Given the description of an element on the screen output the (x, y) to click on. 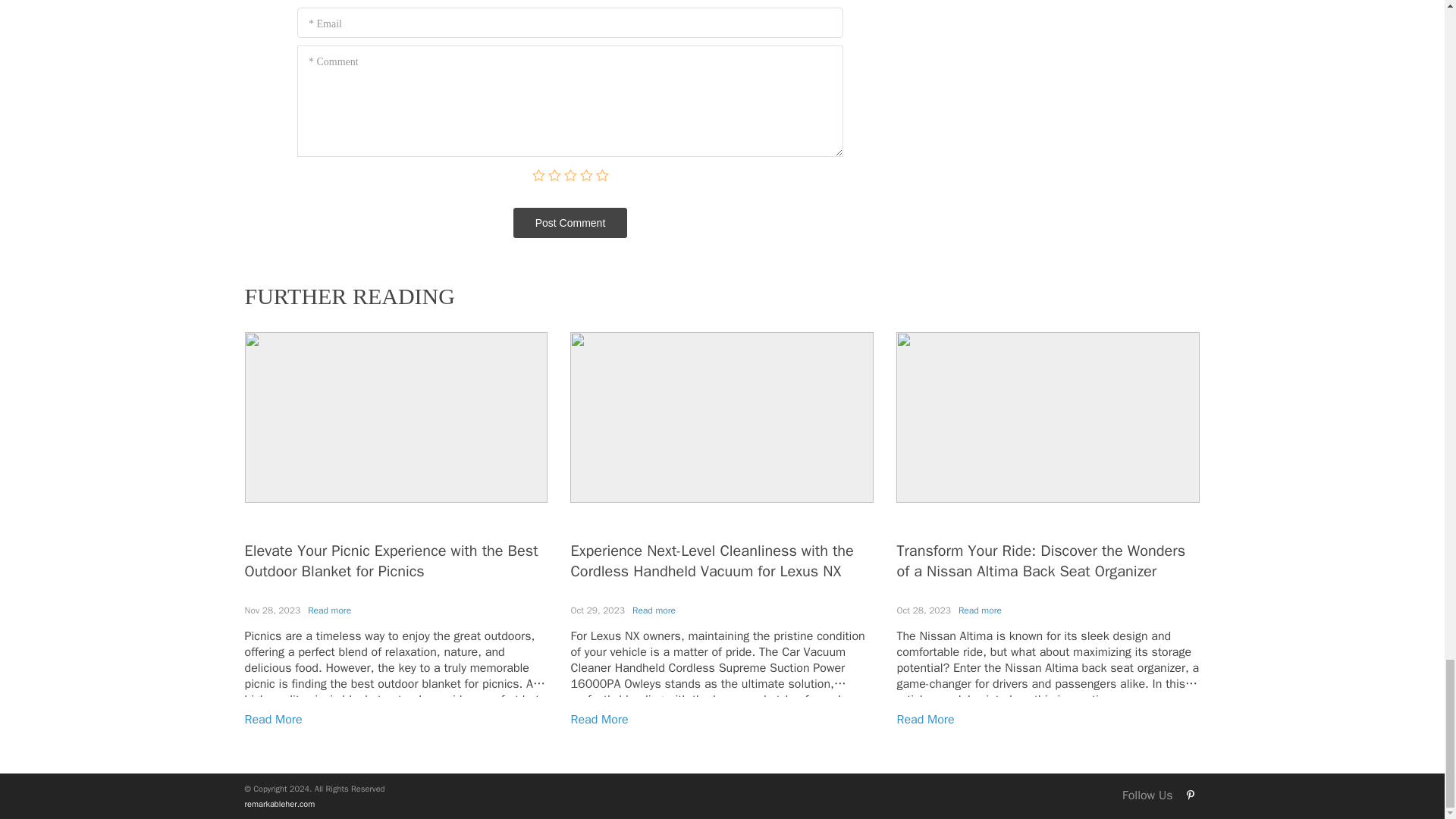
Read more (653, 610)
Read more (328, 610)
Read More (272, 719)
Read More (598, 719)
